Given the description of an element on the screen output the (x, y) to click on. 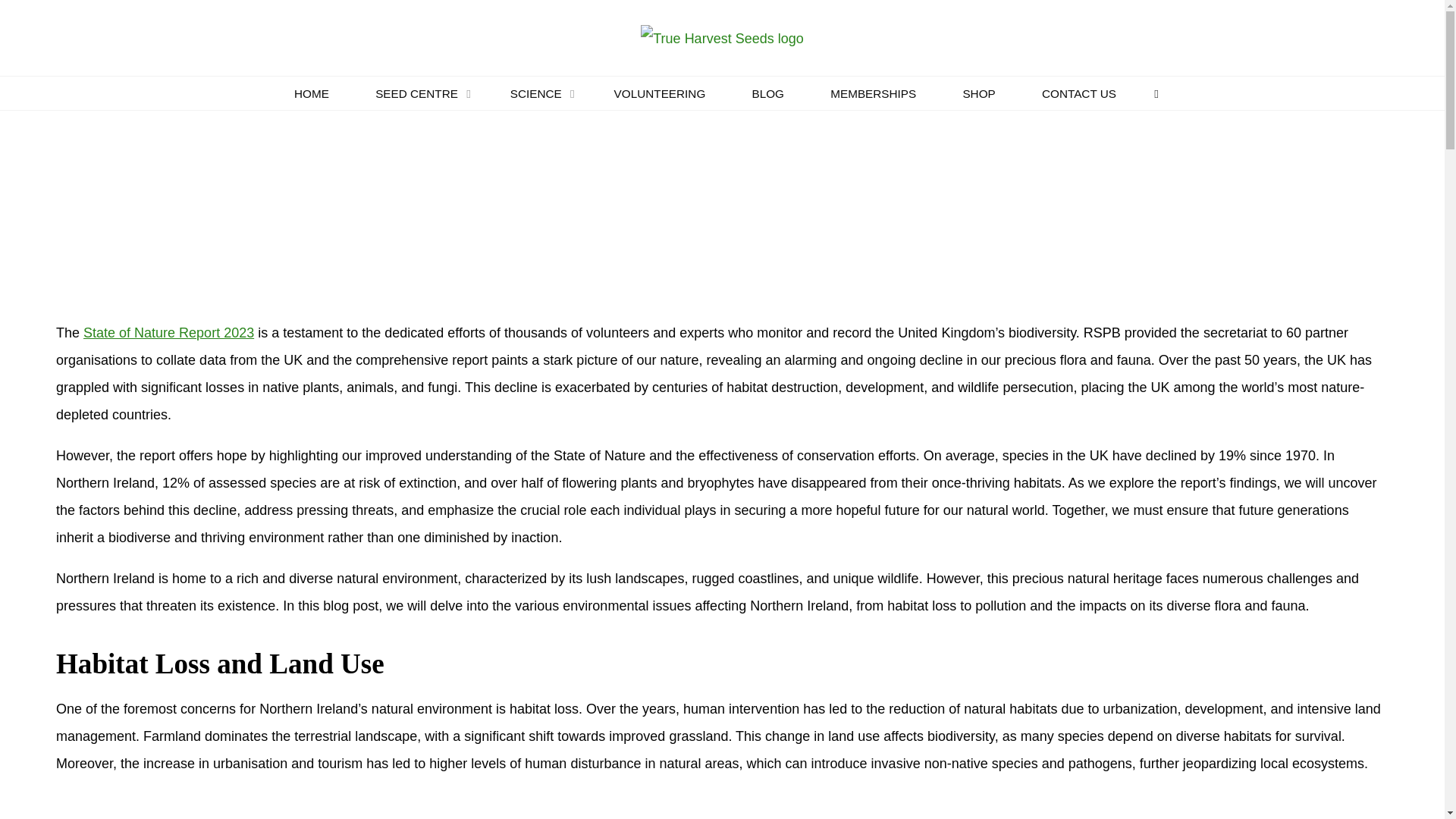
SCIENCE (538, 93)
BLOG (768, 93)
SEED CENTRE (419, 93)
True Harvest Seeds (721, 37)
MEMBERSHIPS (873, 93)
CONTACT US (1077, 93)
HOME (311, 93)
SHOP (979, 93)
VOLUNTEERING (660, 93)
